Given the description of an element on the screen output the (x, y) to click on. 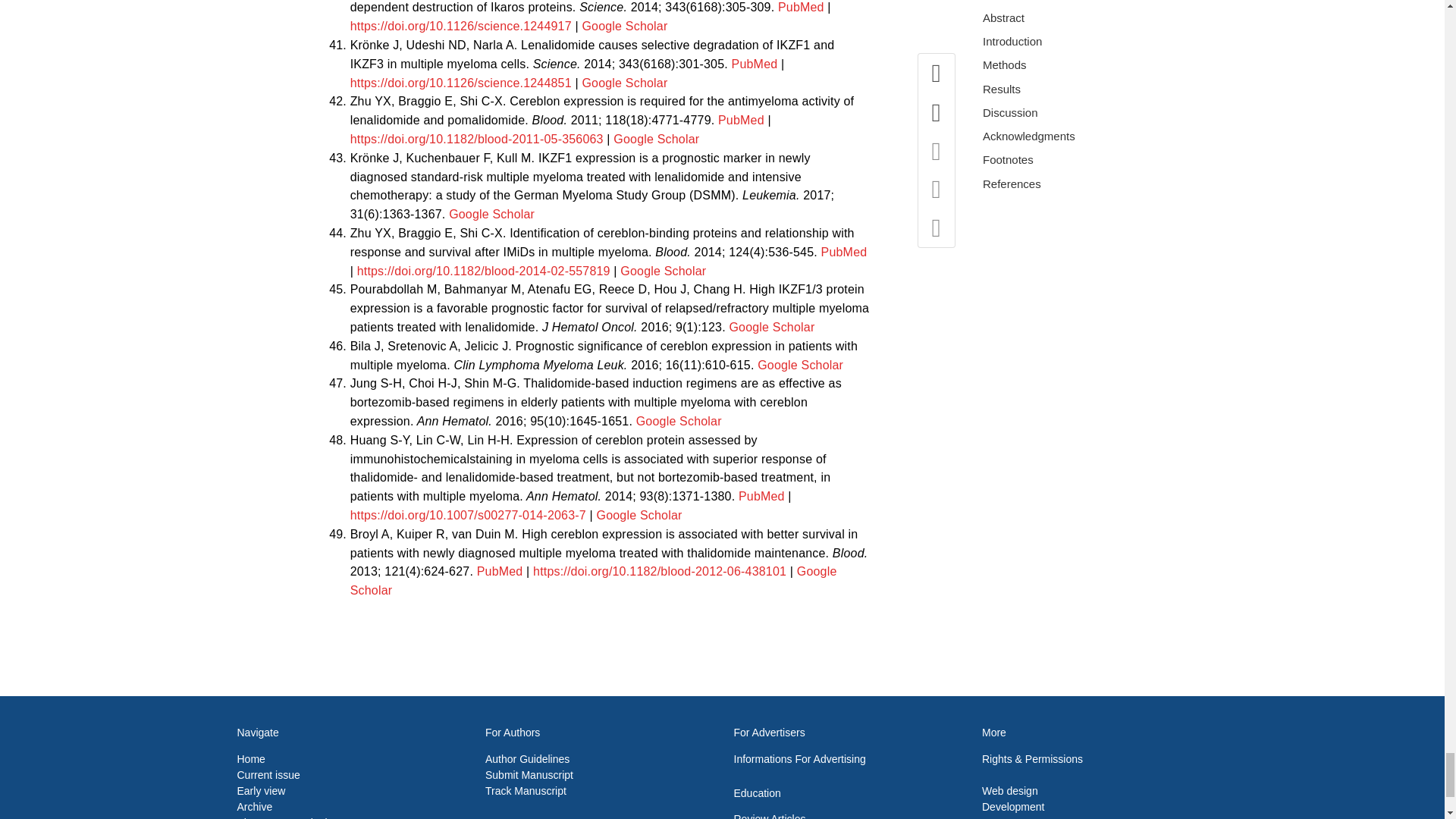
Current Issue (267, 775)
Early View (260, 790)
Home (249, 758)
